Given the description of an element on the screen output the (x, y) to click on. 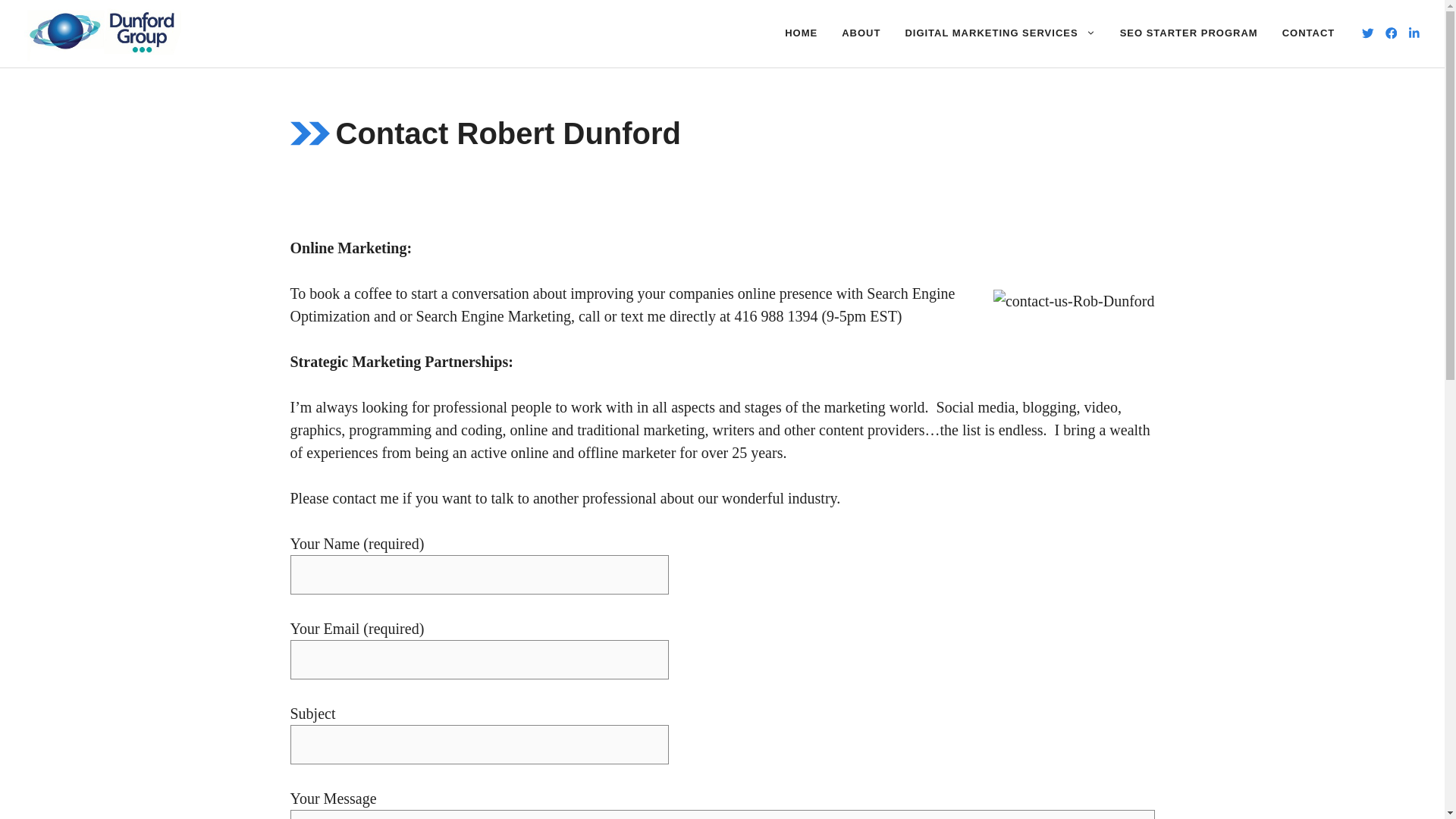
ABOUT (860, 33)
CONTACT (1308, 33)
HOME (801, 33)
SEO STARTER PROGRAM (1188, 33)
DIGITAL MARKETING SERVICES (999, 33)
